Given the description of an element on the screen output the (x, y) to click on. 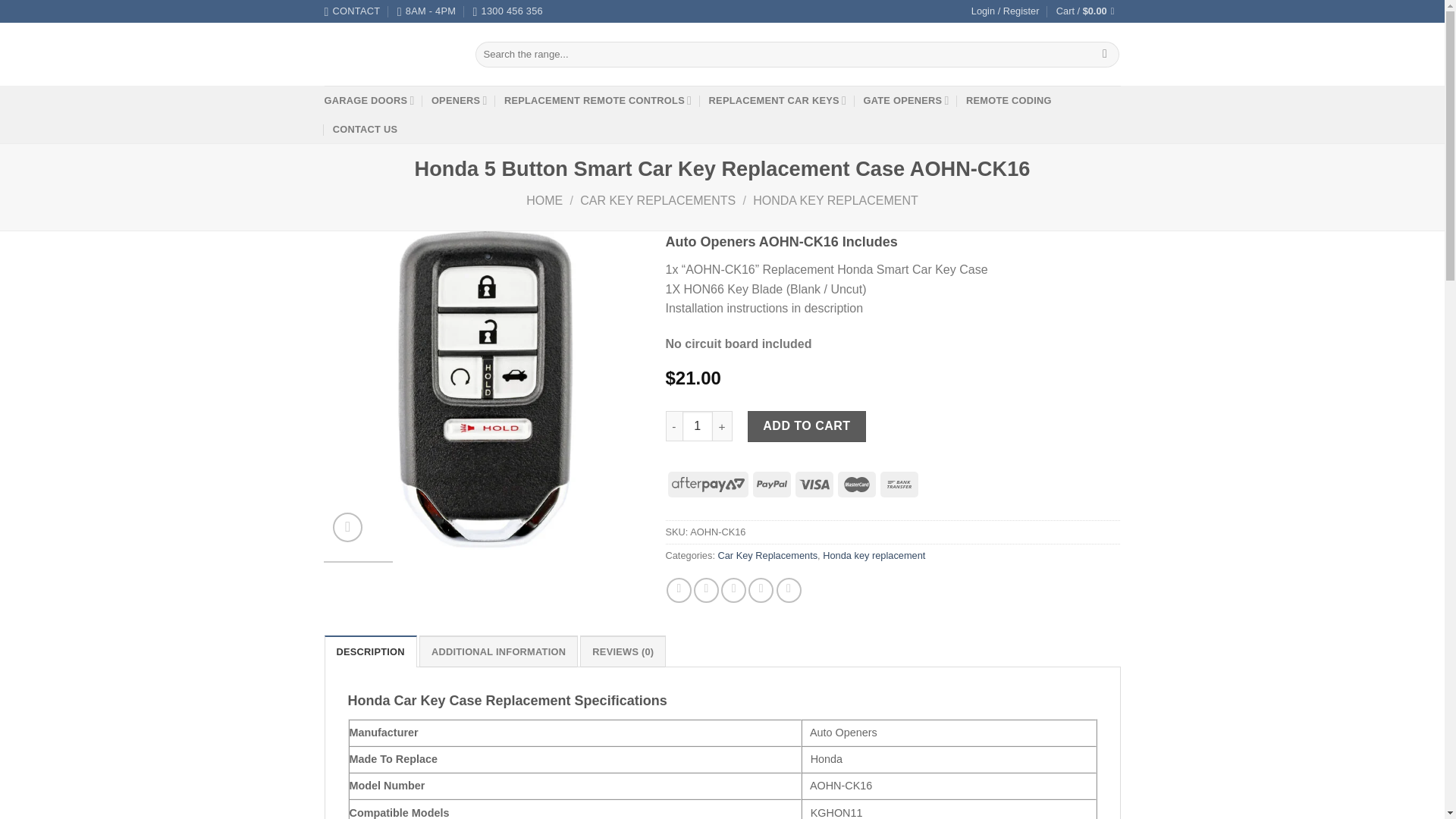
1300 456 356 (506, 11)
CONTACT (352, 11)
1 (697, 426)
Honda Car Key Remote Replacement AOHN-CK16 (483, 389)
OPENERS (458, 100)
8AM - 4PM (426, 11)
Cart (1089, 11)
Honda Car Key Remote Replacement AOHN-CK16 4 (1119, 389)
1300 456 356 (506, 11)
GARAGE DOORS (369, 100)
Honda Car Key Remote Replacement AOHN-CK16 (801, 389)
Search (1105, 54)
8am - 4pm  (426, 11)
